Given the description of an element on the screen output the (x, y) to click on. 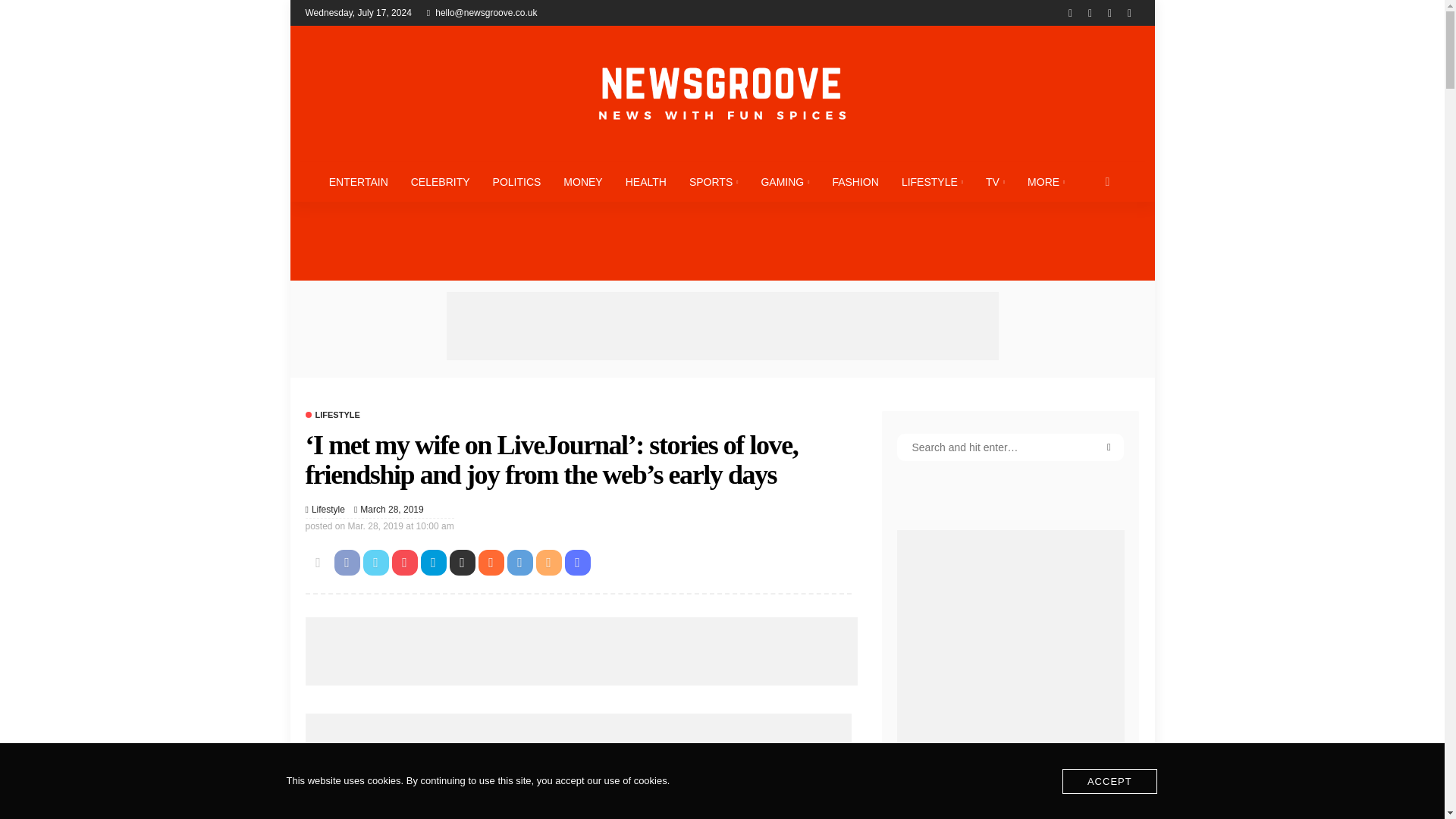
POLITICS (517, 181)
ENTERTAIN (357, 181)
GAMING (785, 181)
Lifestyle (328, 509)
MONEY (581, 181)
NewsGroove Uk (721, 93)
search (1106, 181)
Lifestyle (331, 415)
Advertisement (580, 651)
Advertisement (721, 325)
HEALTH (646, 181)
SPORTS (713, 181)
CELEBRITY (439, 181)
